Given the description of an element on the screen output the (x, y) to click on. 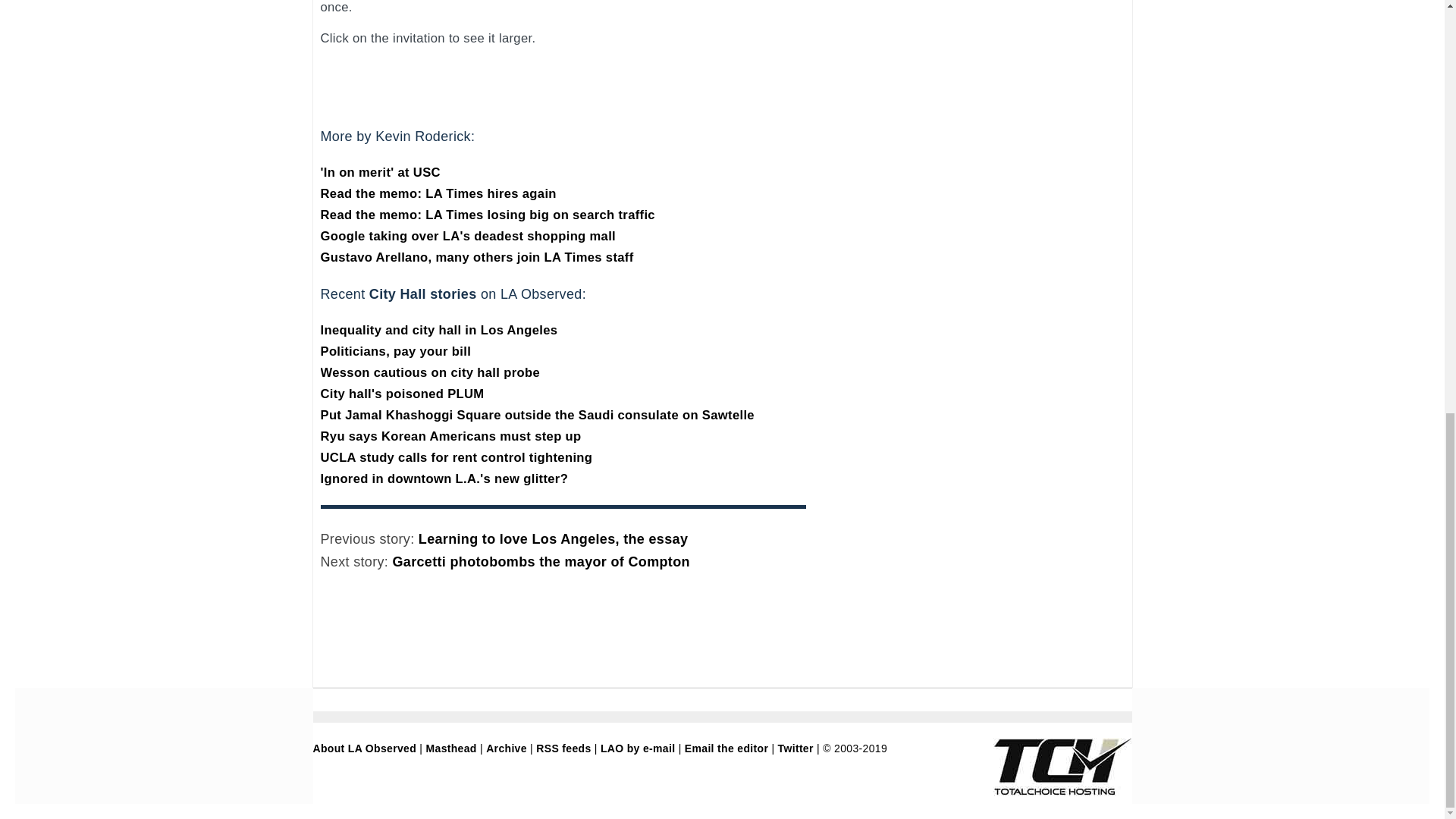
About LA Observed (364, 748)
UCLA study calls for rent control tightening (456, 457)
Read the memo: LA Times hires again (438, 193)
Read the memo: LA Times losing big on search traffic (486, 214)
Inequality and city hall in Los Angeles (438, 329)
Gustavo Arellano, many others join LA Times staff (476, 257)
Masthead (451, 748)
Ignored in downtown L.A.'s new glitter? (443, 478)
'In on merit' at USC (379, 172)
LAO by e-mail (637, 748)
Email the editor (726, 748)
Learning to love Los Angeles, the essay (553, 539)
Archive (506, 748)
City hall's poisoned PLUM (401, 393)
